Given the description of an element on the screen output the (x, y) to click on. 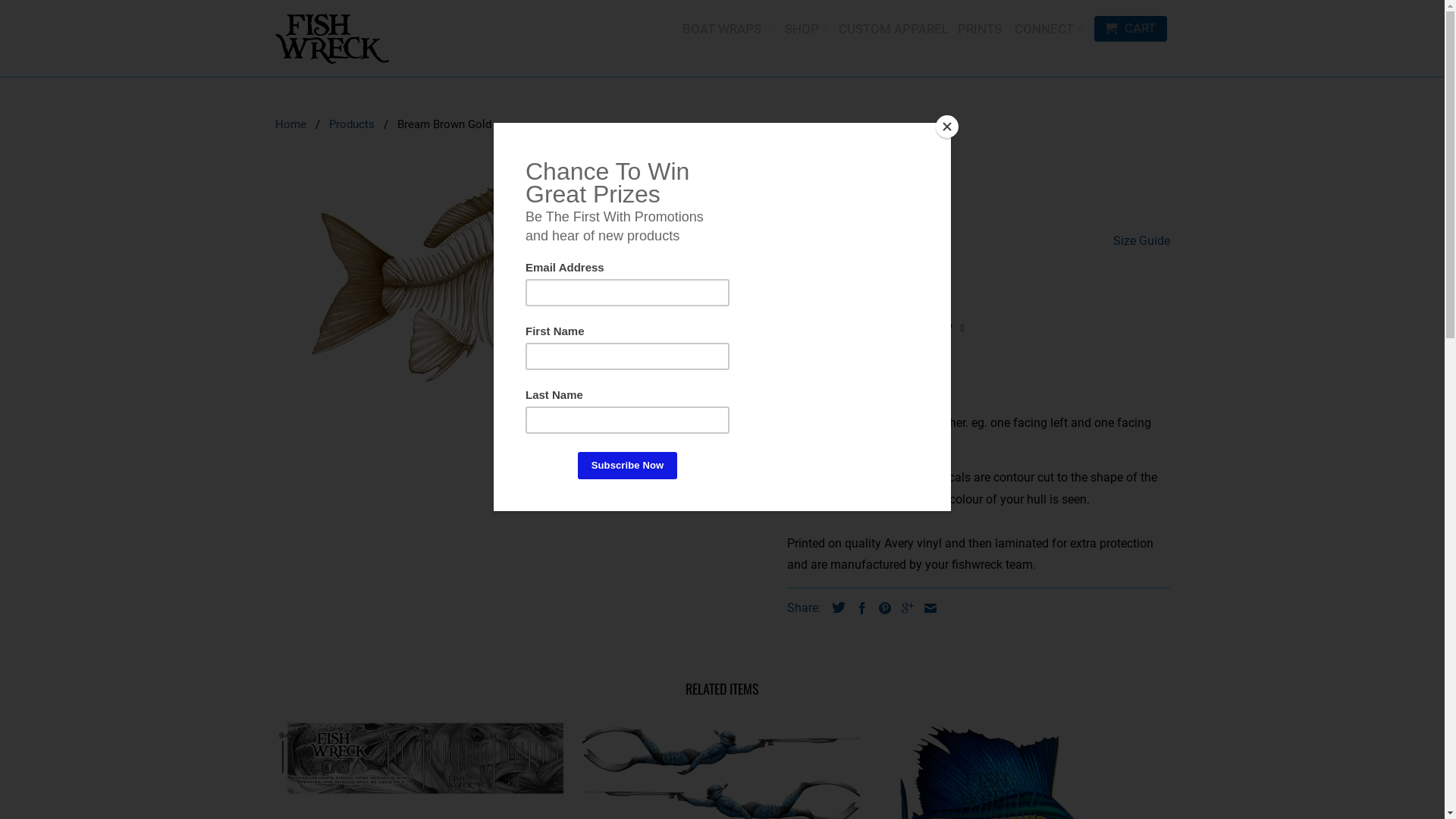
CUSTOM APPAREL Element type: text (893, 31)
Fishwreck Element type: hover (331, 38)
Email this to a friend Element type: hover (925, 608)
ADD TO CART Element type: text (892, 374)
Share this on Twitter Element type: hover (833, 607)
Products Element type: text (351, 124)
Share this on Facebook Element type: hover (857, 608)
Home Element type: text (289, 124)
Size Guide Element type: text (1141, 241)
Decal - Bream Brown Gold Element type: hover (522, 286)
Share this on Google+ Element type: hover (903, 608)
PRINTS Element type: text (979, 31)
CART Element type: text (1129, 28)
Share this on Pinterest Element type: hover (880, 608)
